Given the description of an element on the screen output the (x, y) to click on. 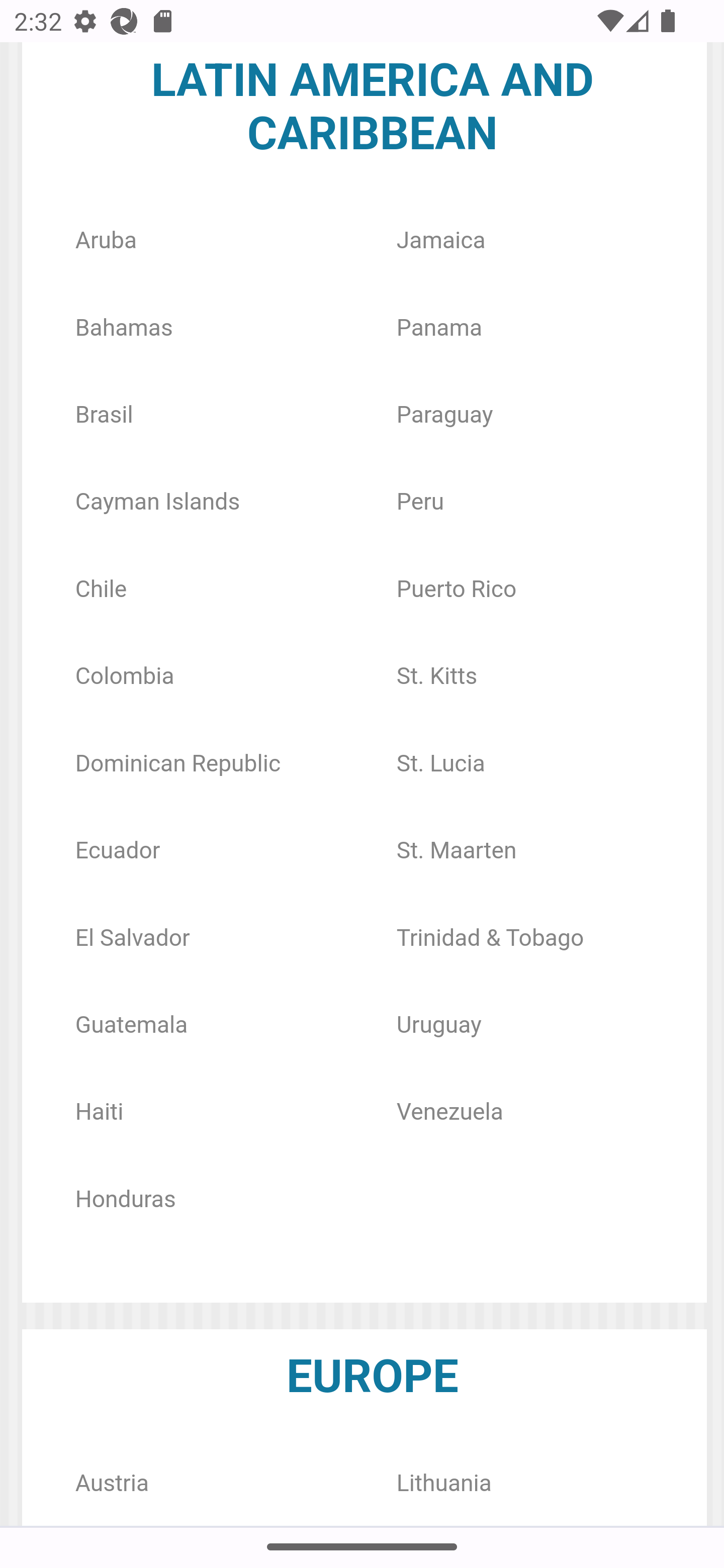
Aruba (105, 240)
Jamaica (440, 240)
Bahamas (123, 328)
Panama (439, 328)
Brasil (103, 415)
Paraguay (445, 415)
Cayman Islands (157, 502)
Peru (420, 502)
Chile (100, 589)
Puerto Rico (456, 589)
Colombia (124, 677)
St. Kitts (437, 677)
Dominican Republic (177, 763)
St. Lucia (440, 763)
Ecuador (117, 851)
St. Maarten (456, 851)
El Salvador (132, 938)
Trinidad & Tobago (490, 938)
Guatemala (130, 1025)
Uruguay (439, 1025)
Haiti (98, 1112)
Venezuela (449, 1112)
Honduras (125, 1199)
Austria (111, 1482)
Lithuania (444, 1482)
